Given the description of an element on the screen output the (x, y) to click on. 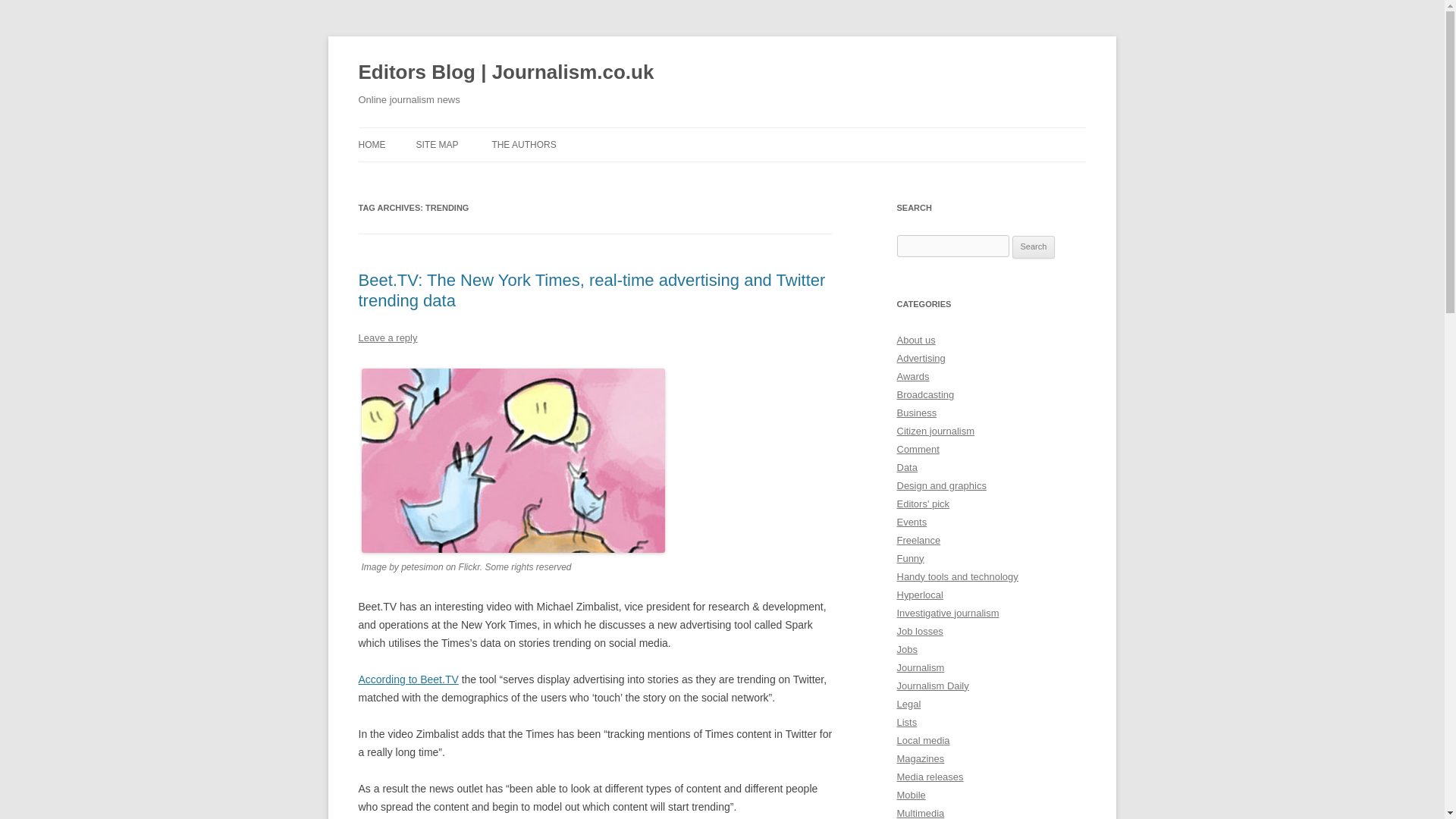
SITE MAP (436, 144)
THE AUTHORS (524, 144)
Leave a reply (387, 337)
Search (1033, 246)
According to Beet.TV (408, 679)
